Given the description of an element on the screen output the (x, y) to click on. 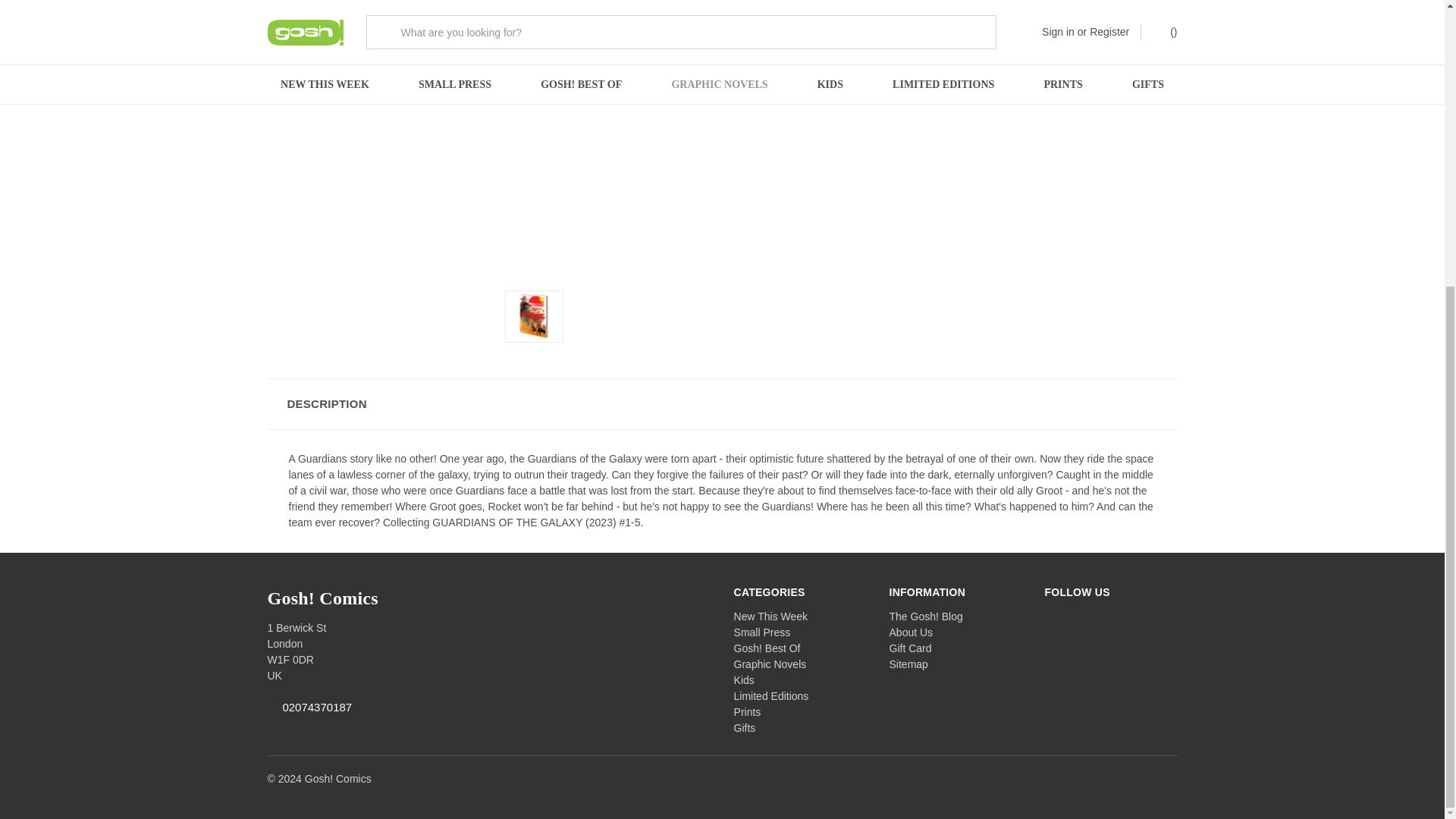
Print (887, 73)
Linkedin (944, 73)
Pinterest (973, 73)
Twitter (915, 73)
Facebook (829, 73)
Email (858, 73)
Add to Cart (890, 28)
